Given the description of an element on the screen output the (x, y) to click on. 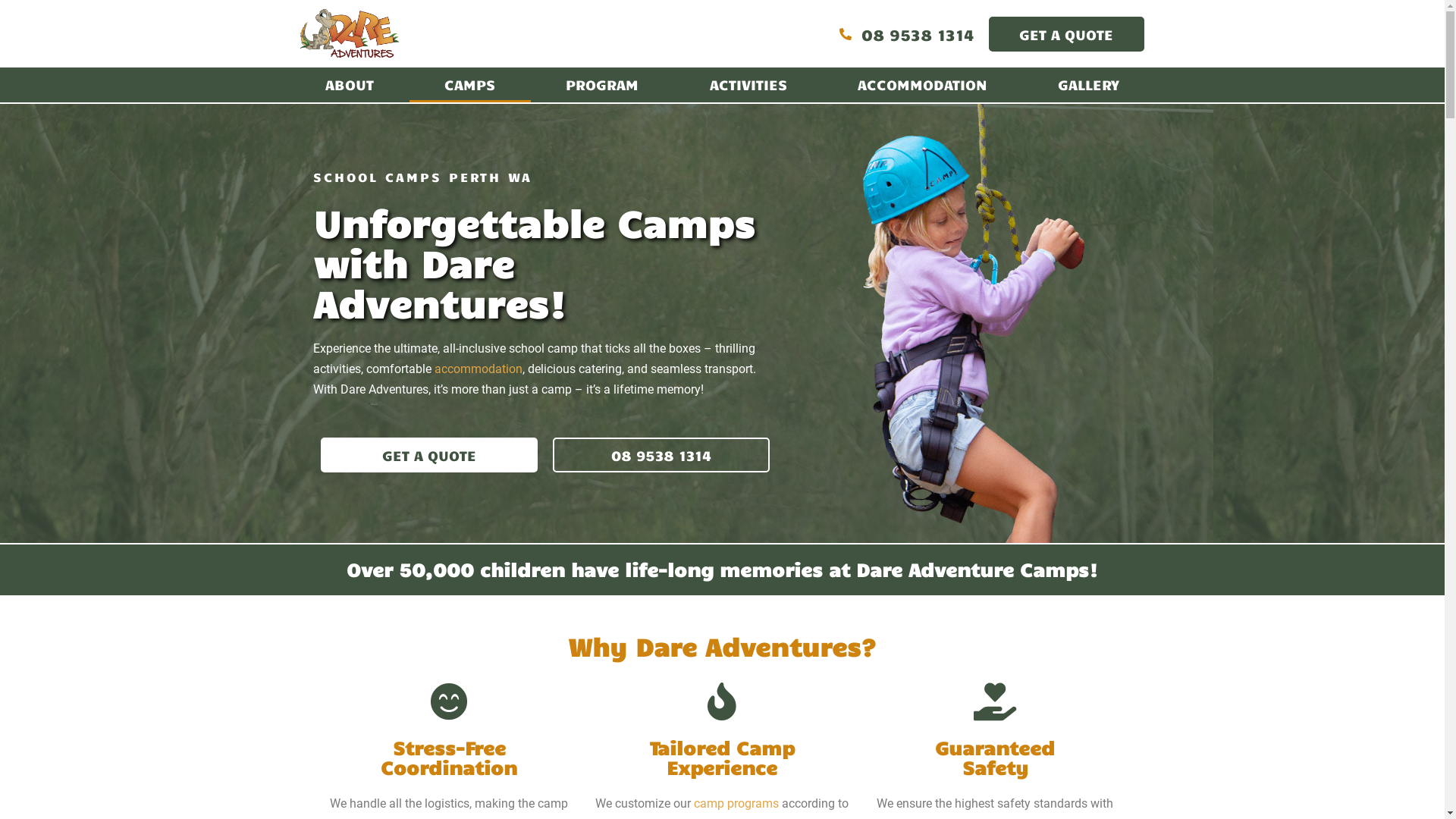
camp programs Element type: text (735, 803)
GET A QUOTE Element type: text (1066, 33)
08 9538 1314 Element type: text (660, 454)
PROGRAM Element type: text (602, 84)
accommodation Element type: text (477, 368)
ACCOMMODATION Element type: text (922, 84)
ACTIVITIES Element type: text (748, 84)
ABOUT Element type: text (348, 84)
CAMPS Element type: text (469, 84)
GALLERY Element type: text (1088, 84)
GET A QUOTE Element type: text (428, 454)
